Given the description of an element on the screen output the (x, y) to click on. 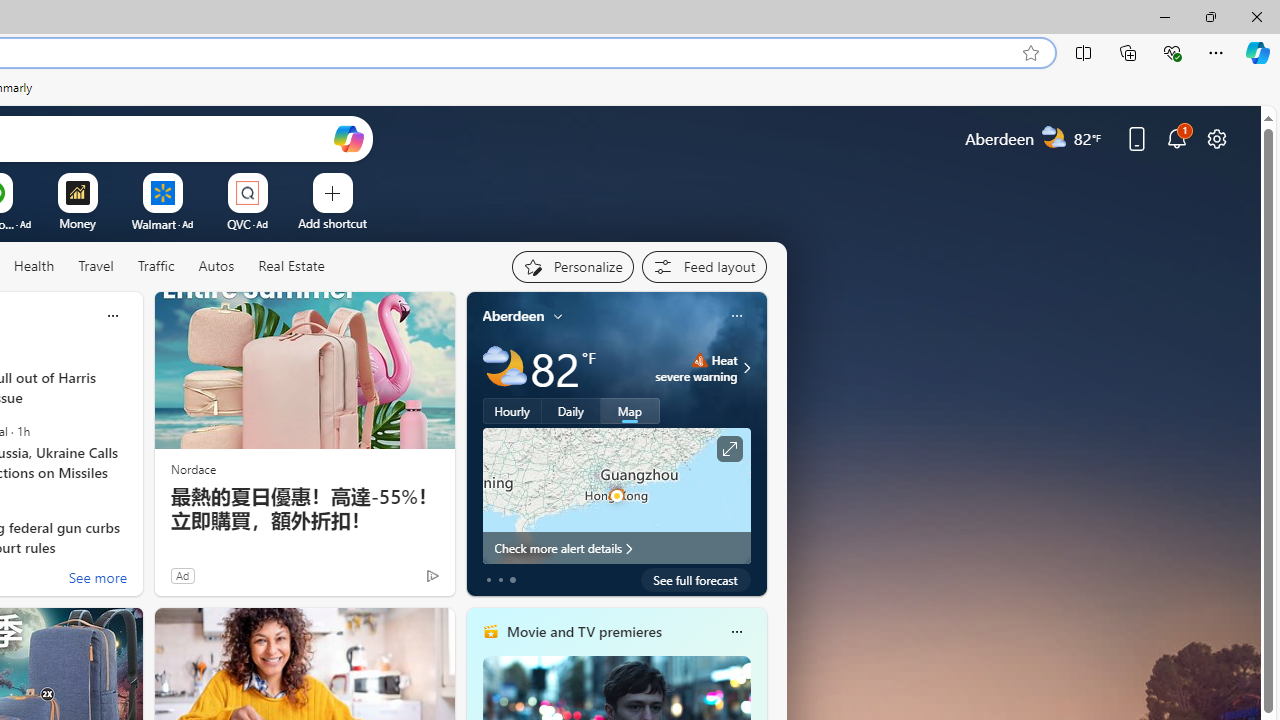
Partly cloudy (504, 368)
Movie and TV premieres (583, 631)
tab-0 (488, 579)
Feed settings (703, 266)
Page settings (1216, 138)
